Given the description of an element on the screen output the (x, y) to click on. 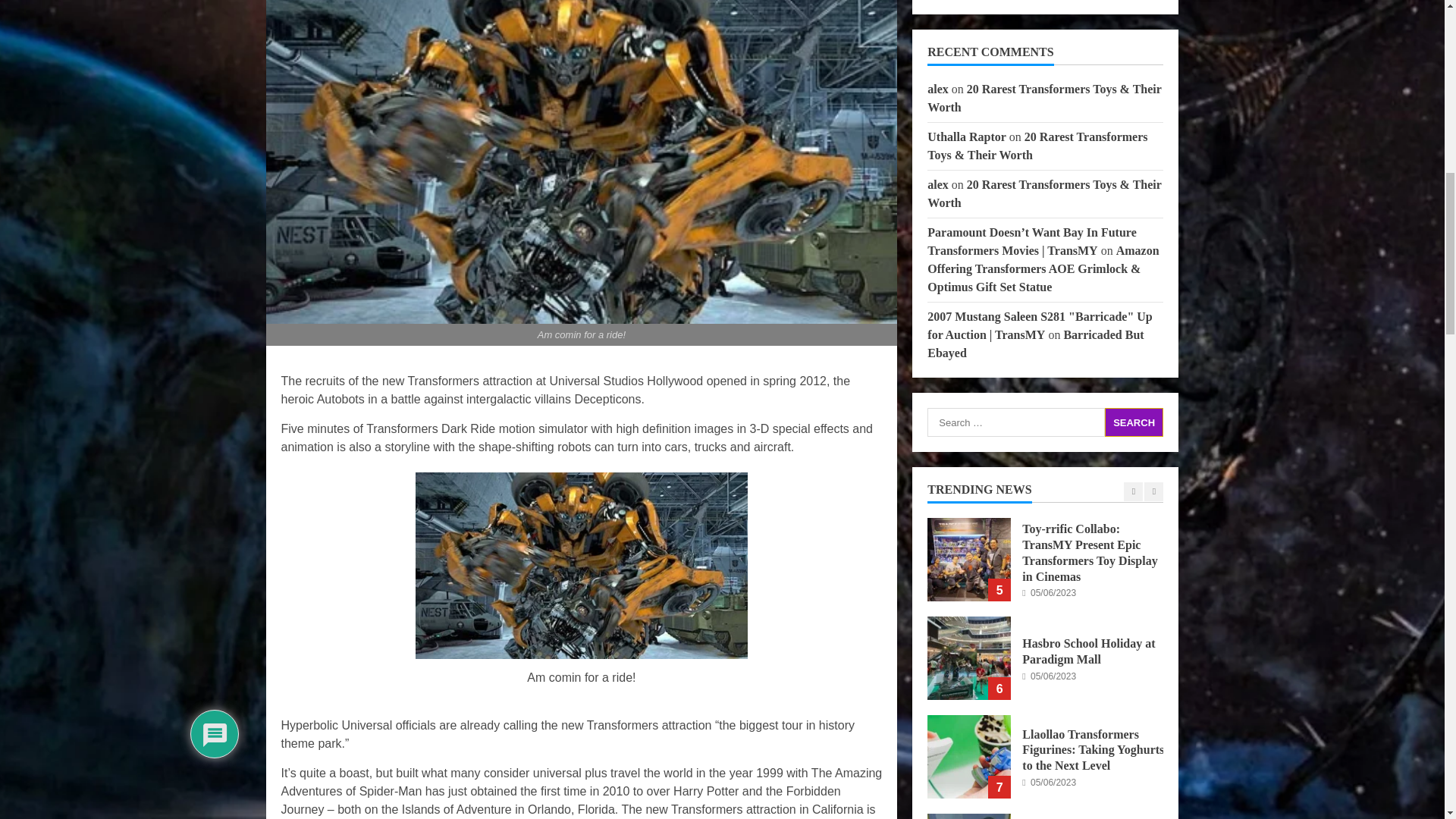
Search (1134, 421)
Search (1134, 421)
tf-uni-studios (580, 565)
